Given the description of an element on the screen output the (x, y) to click on. 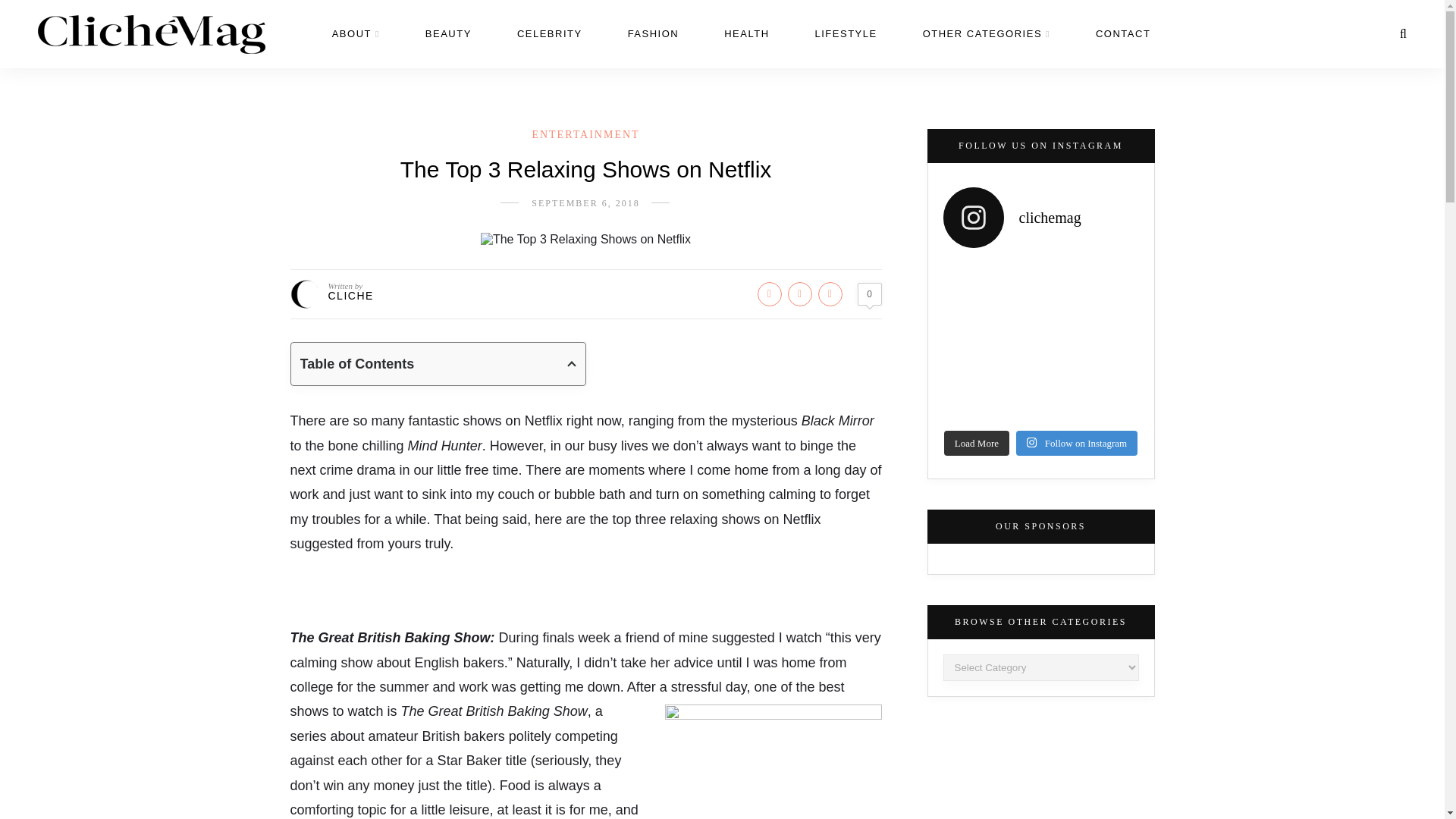
The Top 3 Relaxing Shows on Netflix (585, 239)
Posts by Cliche (349, 295)
CELEBRITY (549, 33)
